Given the description of an element on the screen output the (x, y) to click on. 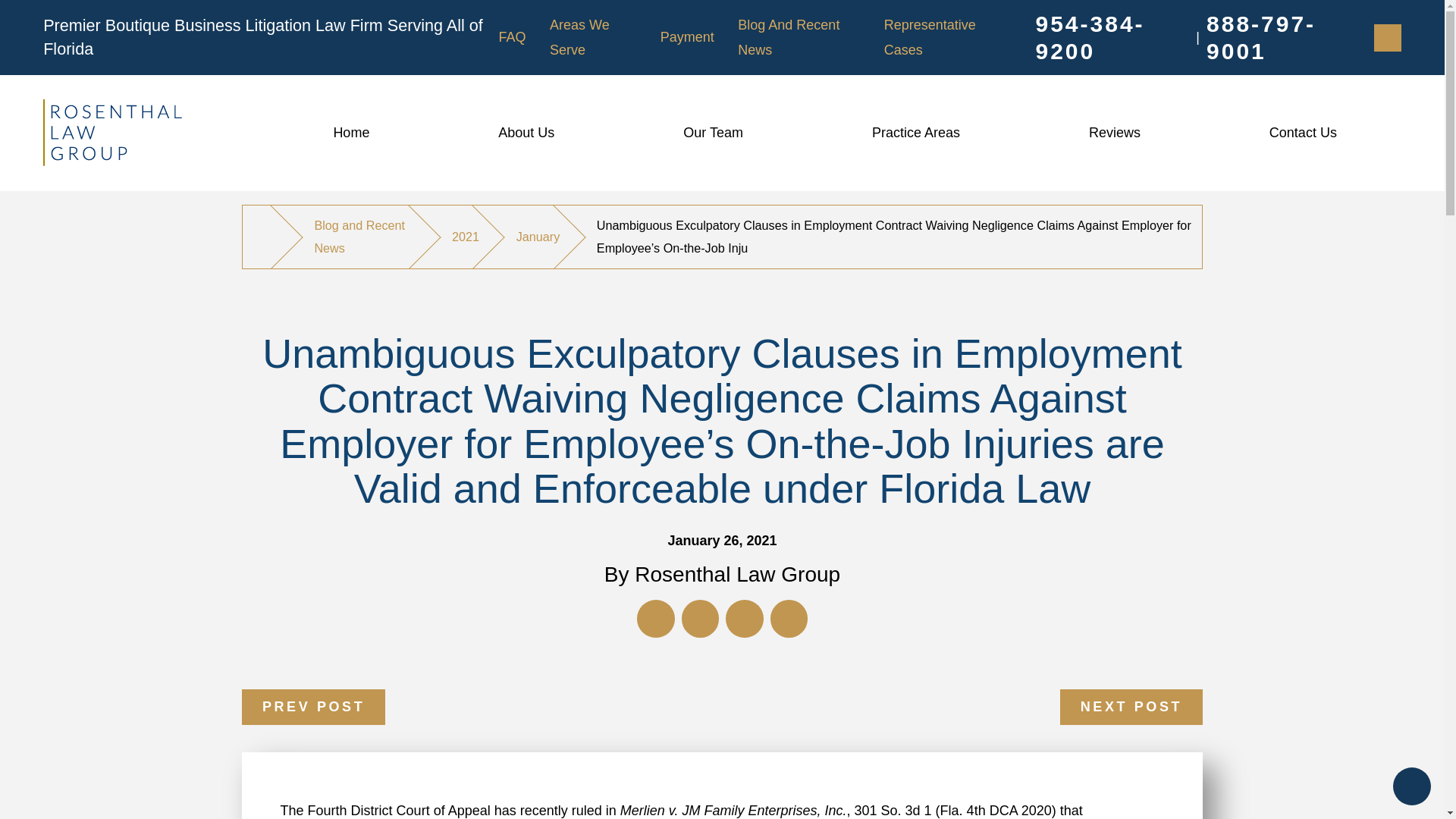
888-797-9001 (1283, 37)
Payment (687, 37)
FAQ (511, 37)
Rosenthal Law Group (112, 132)
954-384-9200 (1112, 37)
Open the accessibility options menu (1412, 786)
About Us (525, 132)
Areas We Serve (580, 36)
Go Home (269, 236)
Search Our Site (1387, 37)
